Given the description of an element on the screen output the (x, y) to click on. 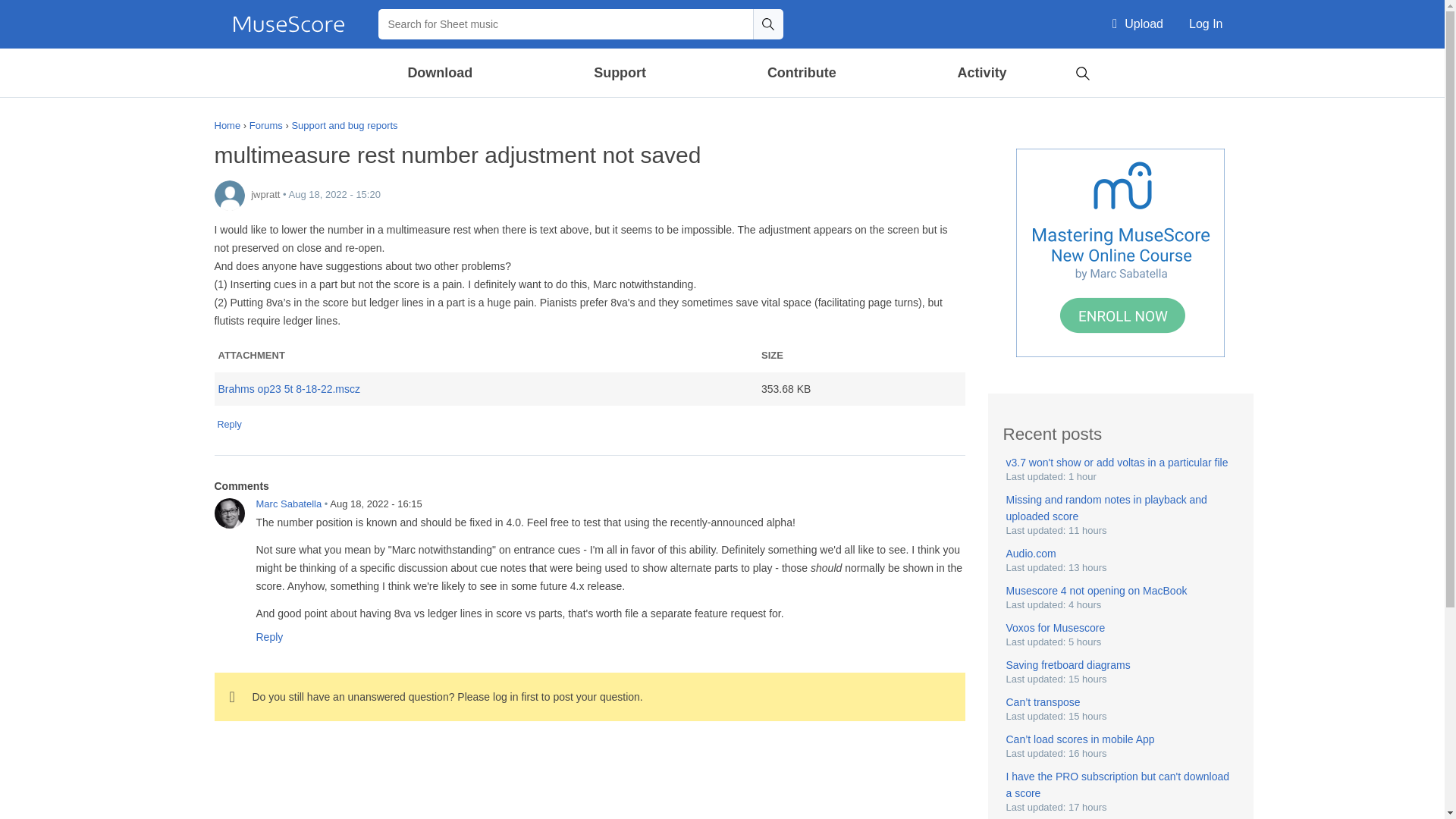
jwpratt (229, 195)
Home (287, 23)
Contribute (801, 72)
Upload (1137, 24)
Search (1082, 71)
Marc Sabatella (229, 512)
Activity (981, 72)
Search (767, 24)
Log In (1205, 24)
Support (619, 72)
MuseScore (287, 23)
Download (440, 72)
Search (767, 24)
